Given the description of an element on the screen output the (x, y) to click on. 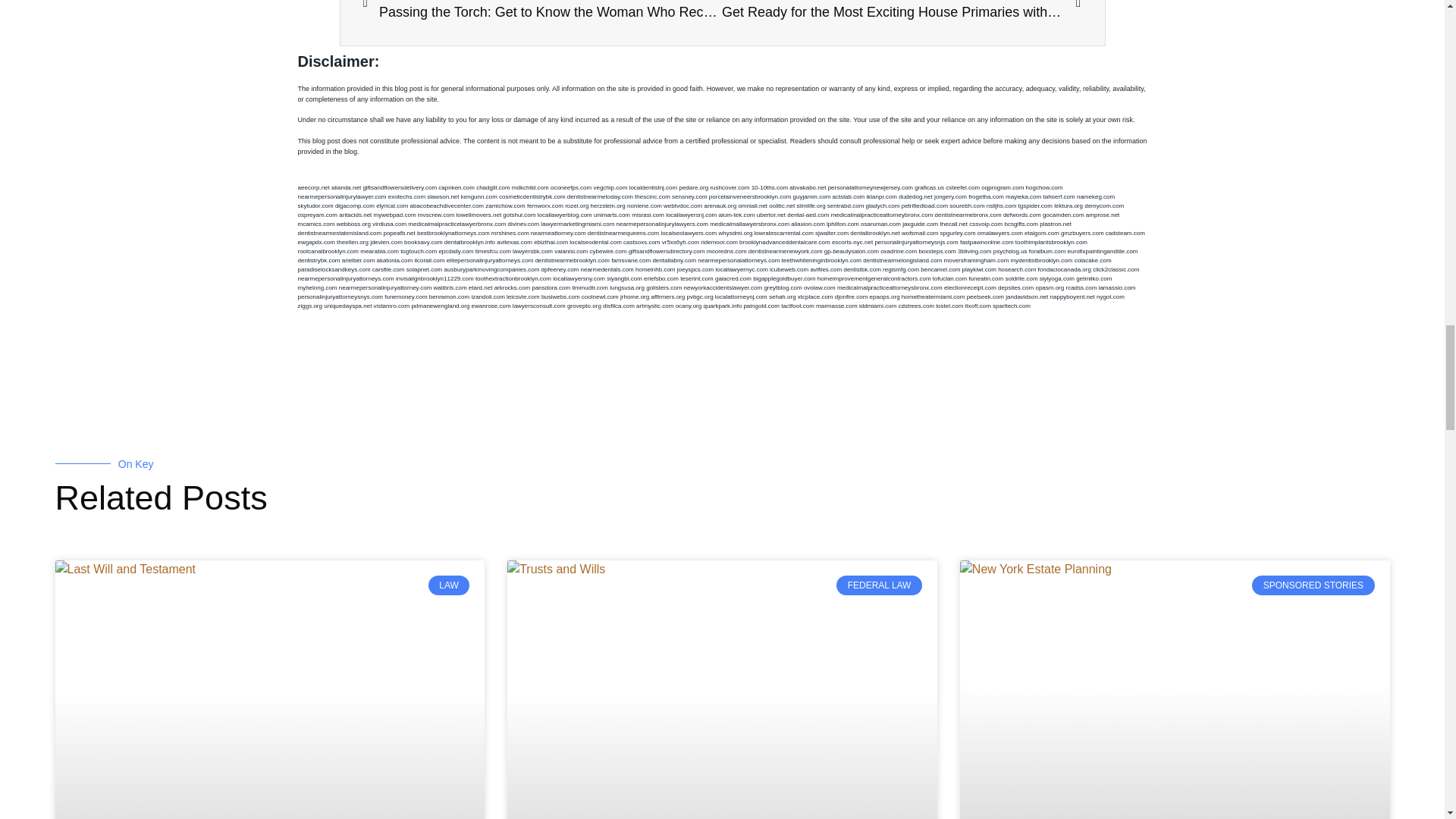
capnken.com (456, 187)
pedare.org (692, 187)
localdentistnj.com (653, 187)
slawson.net (442, 196)
vegchip.com (609, 187)
nearmepersonalinjurylawyer.com (341, 196)
giftsandflowersdelivery.com (399, 187)
cosmeticdentistrybk.com (532, 196)
aeecorp.net (313, 187)
oconeefps.com (570, 187)
alianda.net (346, 187)
10-10ths.com (769, 187)
graficas.us (928, 187)
csteefel.com (961, 187)
personalattorneynewjersey.com (870, 187)
